Given the description of an element on the screen output the (x, y) to click on. 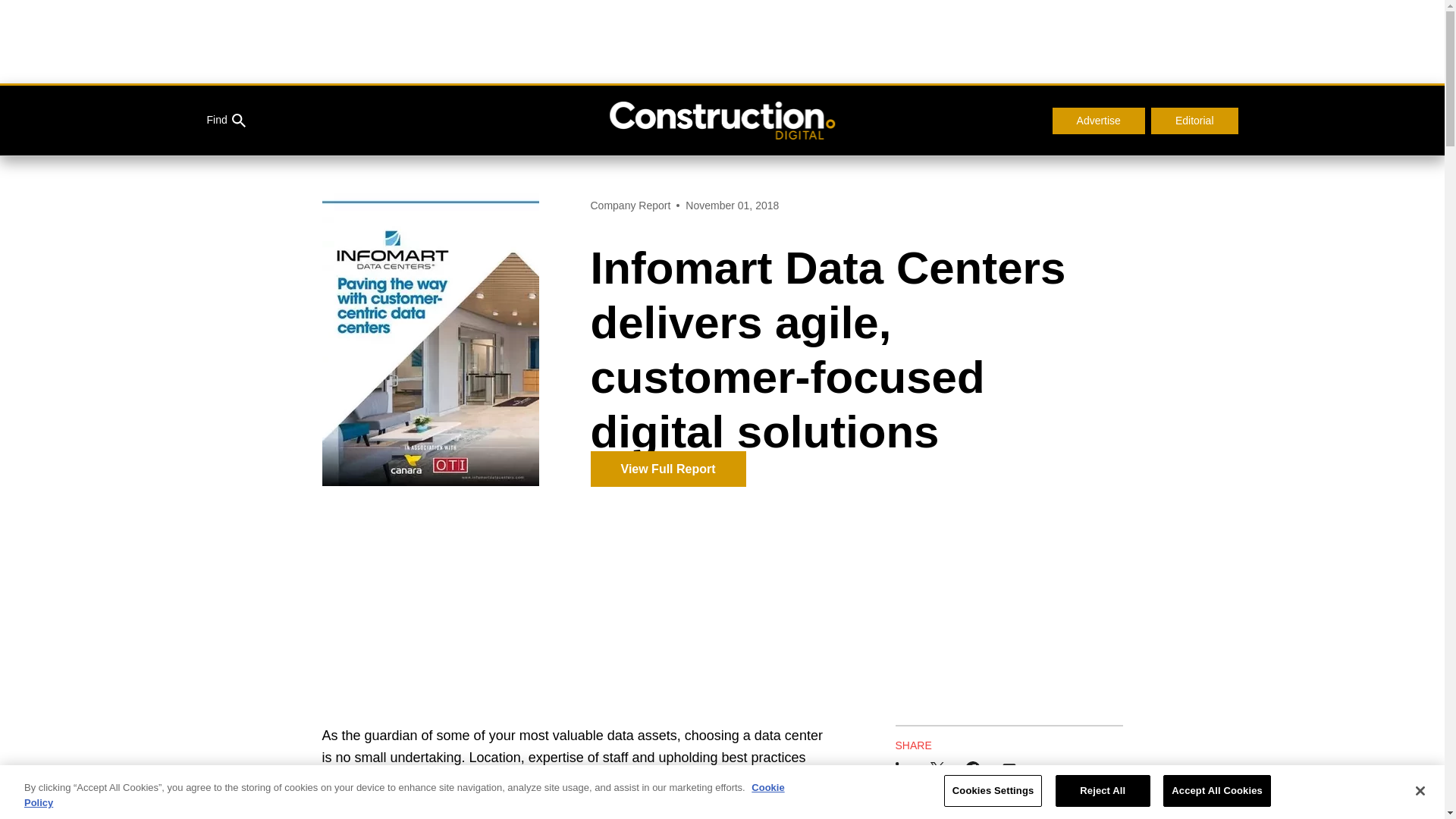
Advertise (1098, 121)
Find (225, 120)
View Full Report (667, 468)
Editorial (1195, 121)
